Given the description of an element on the screen output the (x, y) to click on. 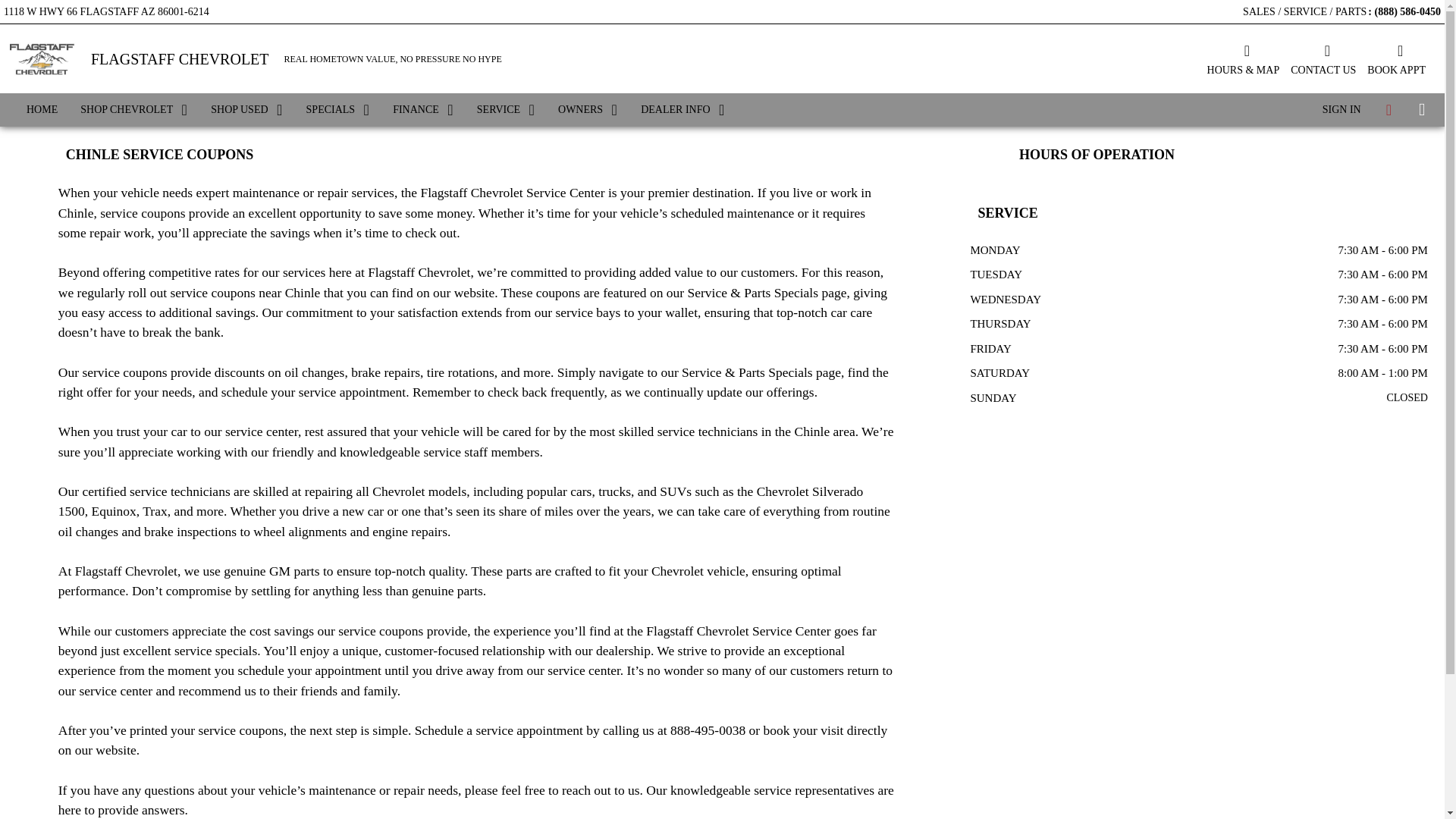
REAL HOMETOWN VALUE, NO PRESSURE NO HYPE (392, 58)
Skip to Main Content (45, 7)
BOOK APPT (1396, 58)
HOME (41, 109)
CONTACT US (1322, 58)
Flagstaff Chevrolet (41, 58)
1118 W HWY 66 FLAGSTAFF AZ 86001-6214 (106, 9)
FLAGSTAFF CHEVROLET (179, 58)
